Given the description of an element on the screen output the (x, y) to click on. 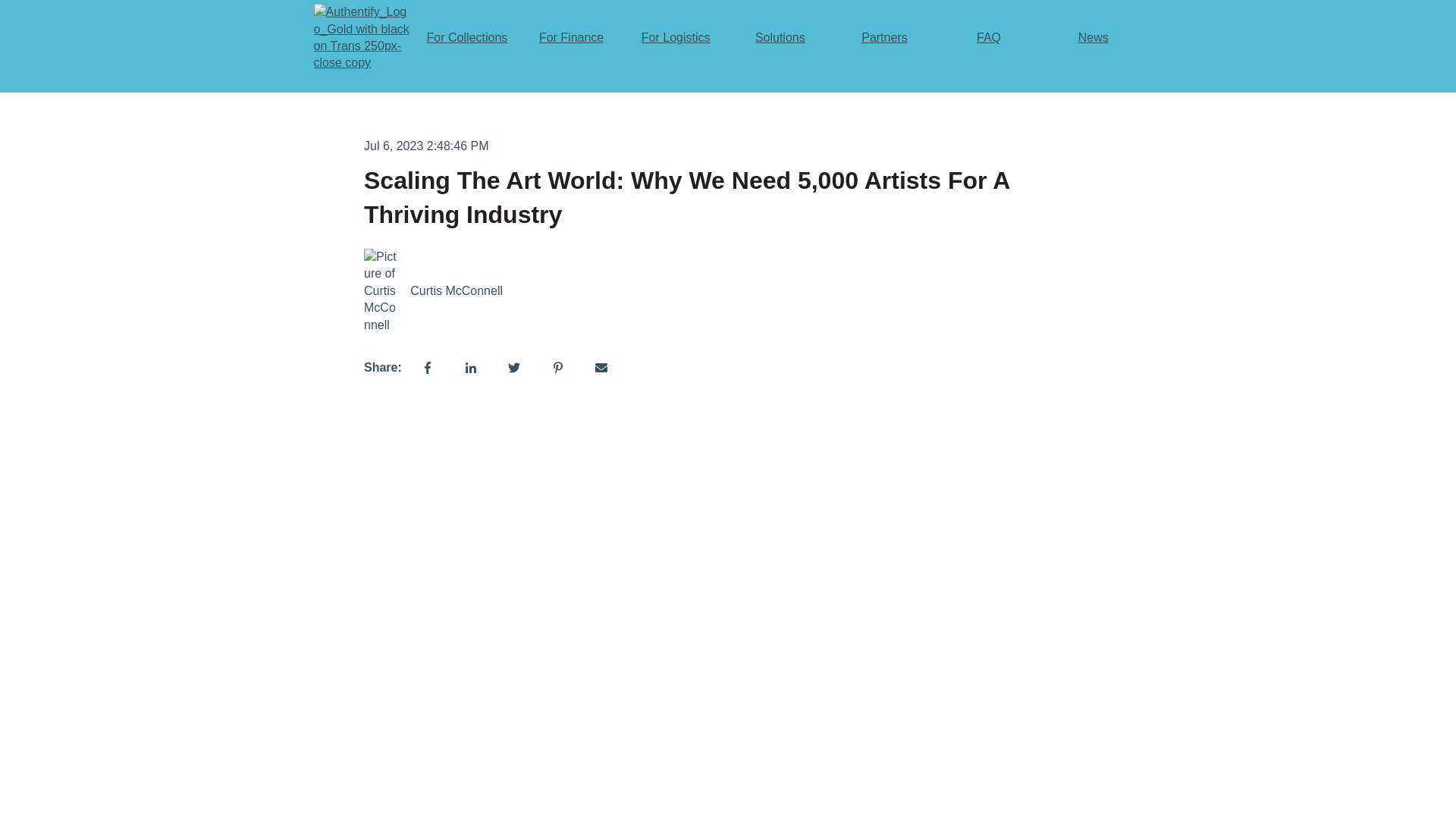
Curtis McConnell (456, 290)
For Collections (467, 37)
Solutions (780, 37)
For Logistics (676, 37)
Partners (884, 37)
News (1093, 37)
FAQ (988, 37)
For Finance (571, 37)
